Given the description of an element on the screen output the (x, y) to click on. 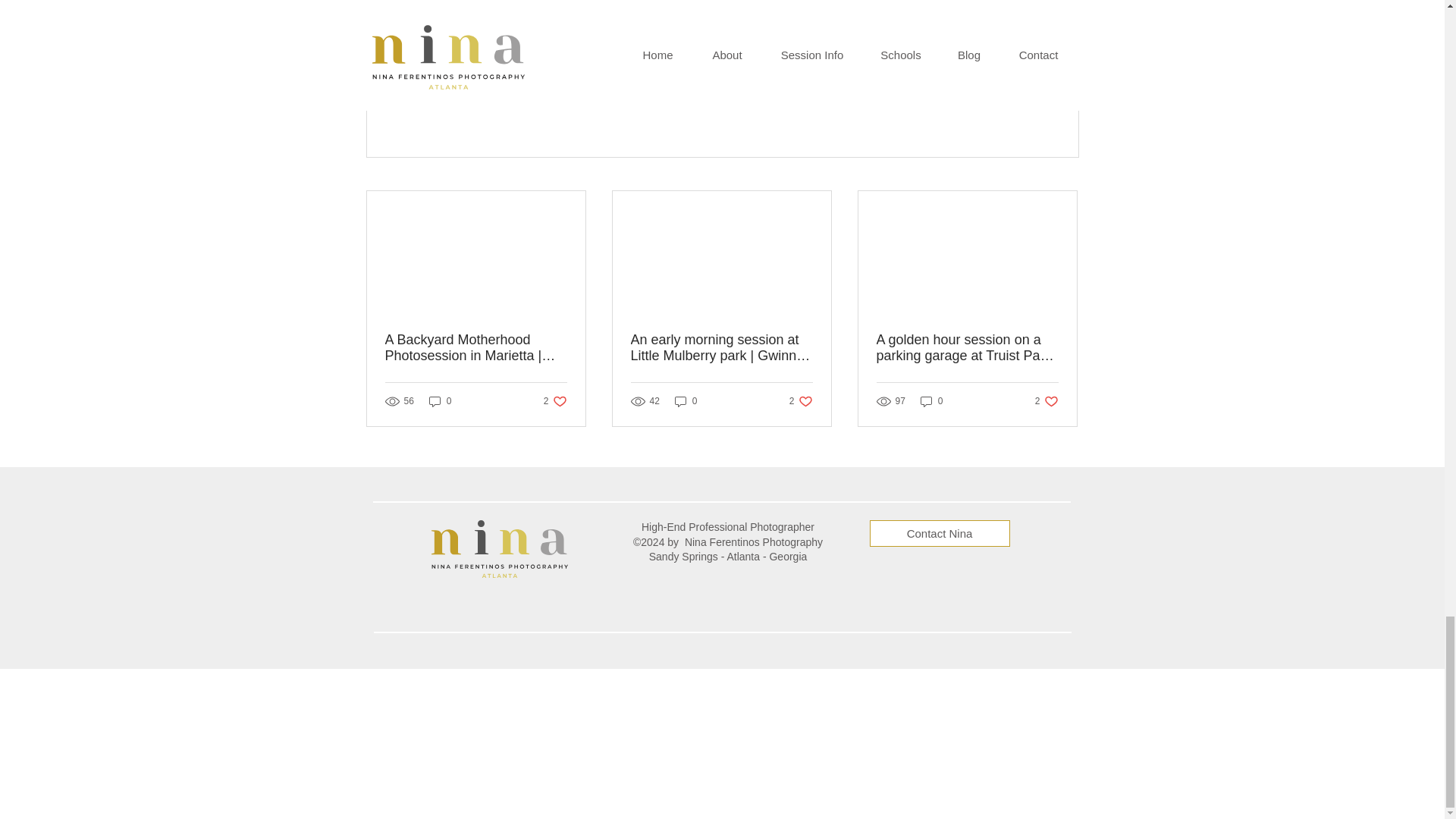
georgia (611, 6)
Celebrate Motherhood (555, 400)
professional photos (825, 6)
photography (990, 103)
atlanta (701, 6)
Photoshoot preparation (538, 6)
Celebrate Motherhood campaign (467, 6)
Atlanta (947, 58)
0 (750, 58)
0 (859, 58)
